Given the description of an element on the screen output the (x, y) to click on. 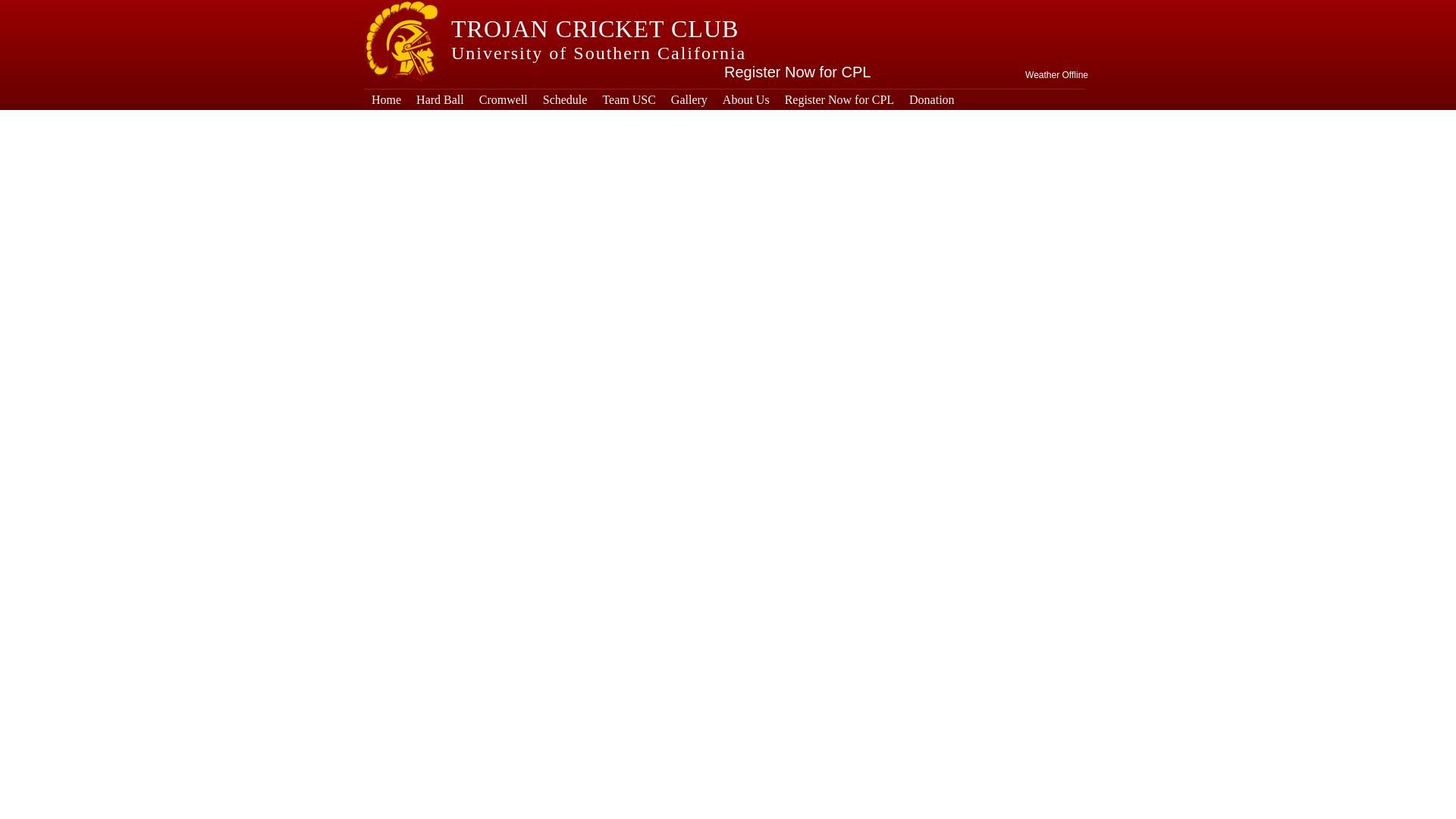
Twitter (949, 10)
Schedule (565, 99)
Donation (931, 99)
Facebook (978, 10)
Gallery (688, 99)
Home (386, 99)
Contact Us (1037, 10)
About Us (745, 99)
Register Now for CPL (839, 99)
Team USC (628, 99)
